Given the description of an element on the screen output the (x, y) to click on. 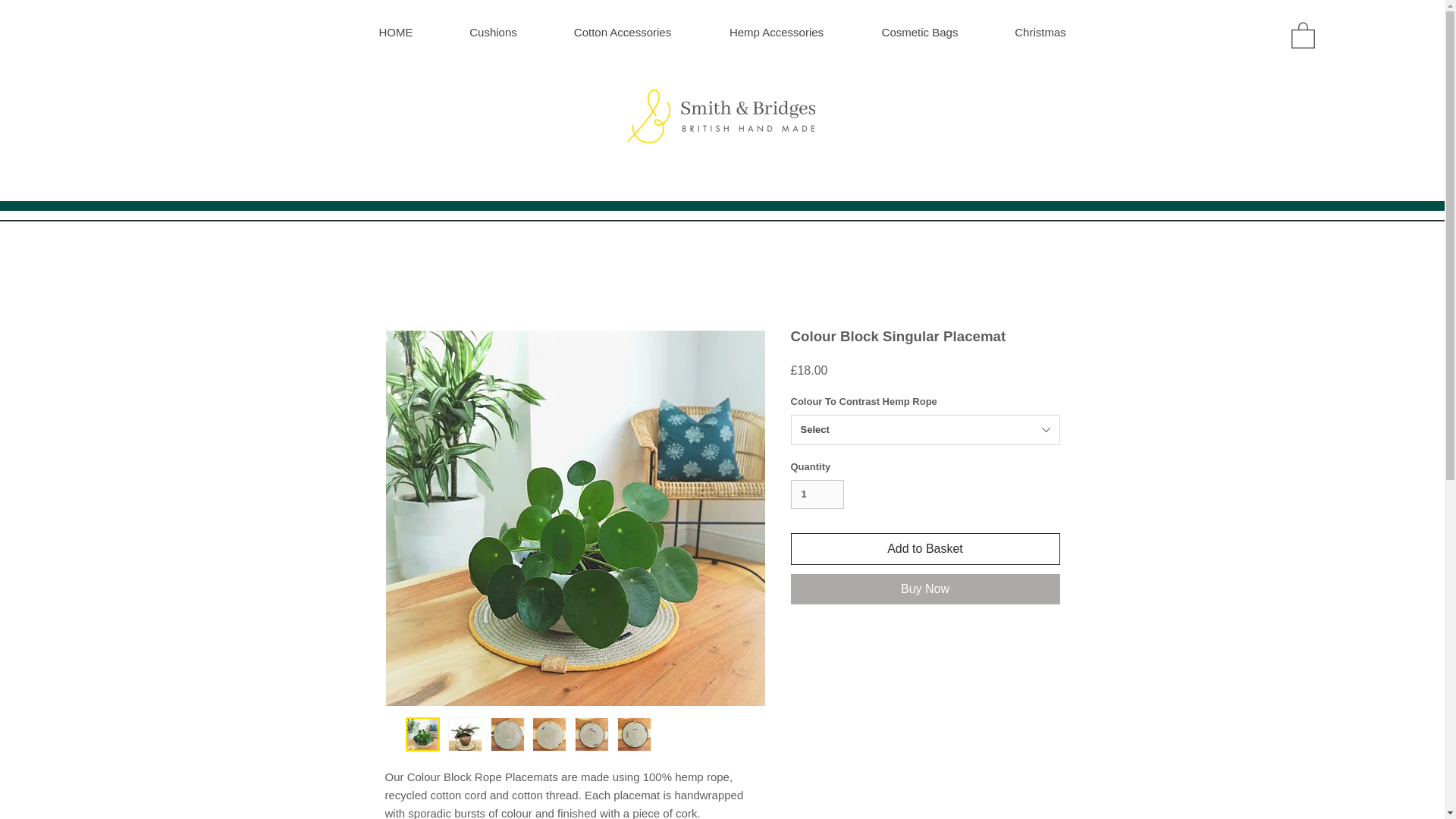
Add to Basket (924, 549)
Hemp Accessories (774, 32)
1 (817, 493)
Cotton Accessories (621, 32)
Cosmetic Bags (918, 32)
Christmas (1039, 32)
HOME (395, 32)
Cushions (492, 32)
Select (924, 429)
Buy Now (924, 589)
